Given the description of an element on the screen output the (x, y) to click on. 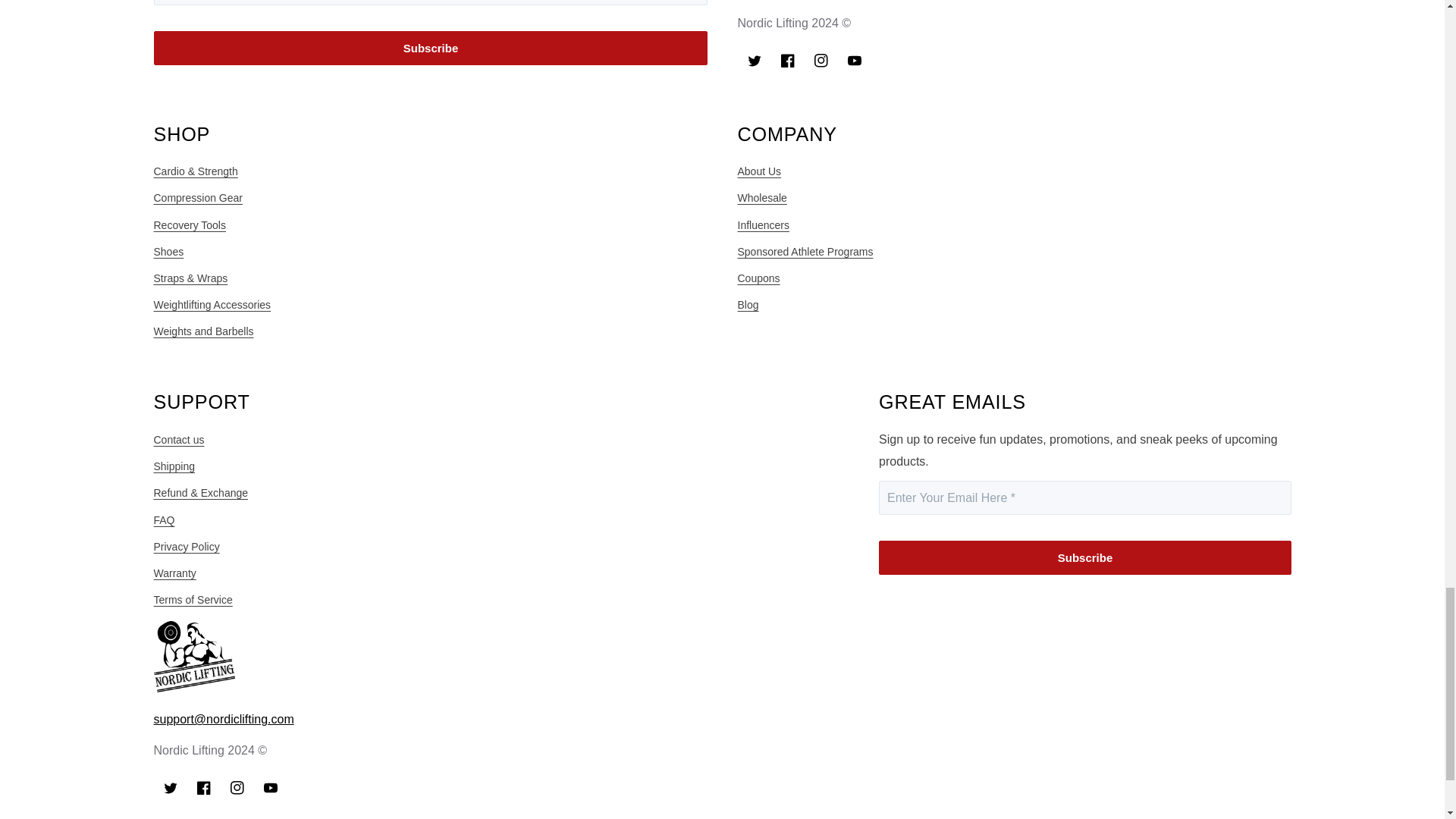
YouTube (853, 60)
Facebook (786, 60)
Twitter (753, 60)
Instagram (820, 60)
Compression Gear (197, 198)
